Given the description of an element on the screen output the (x, y) to click on. 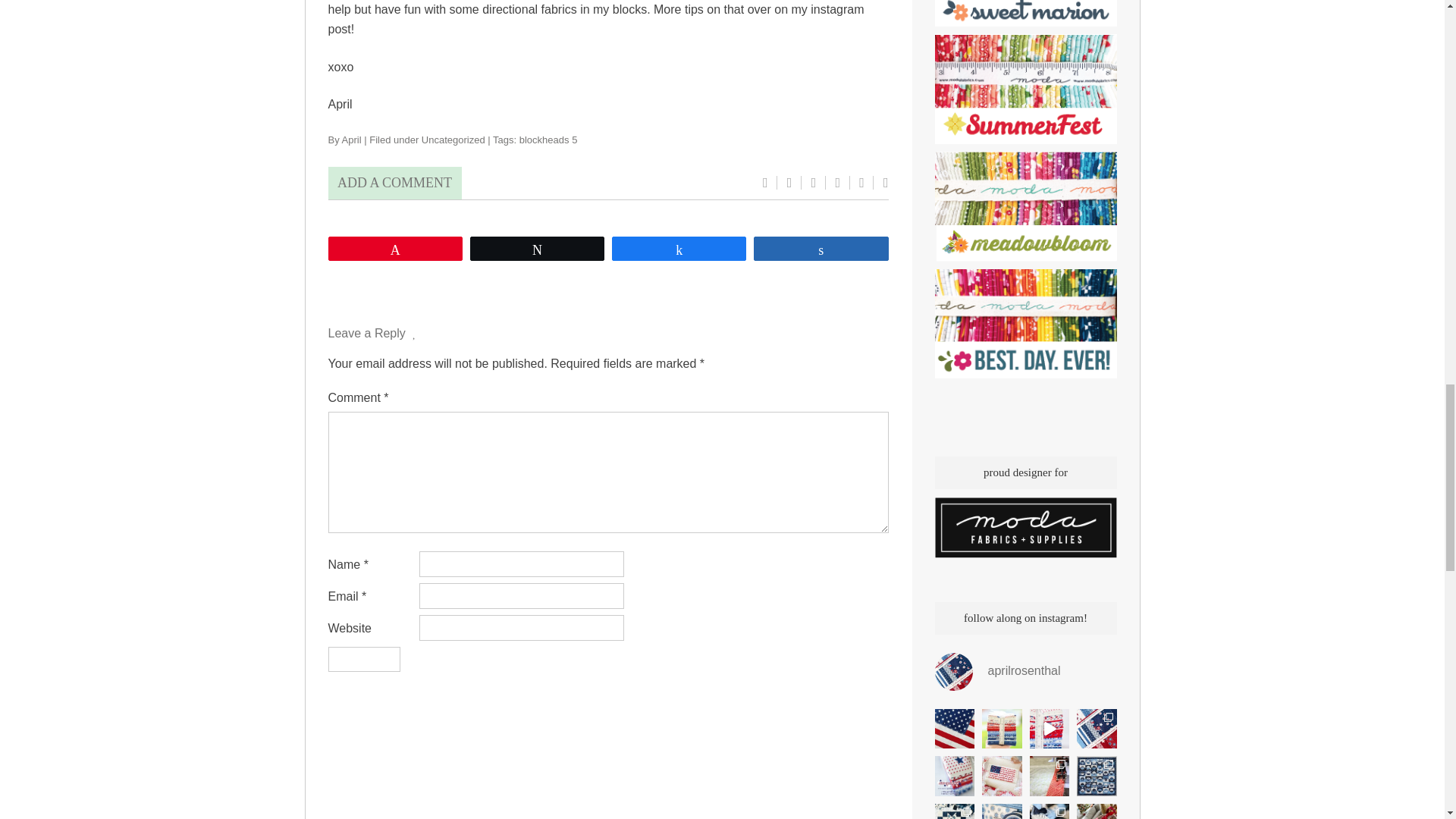
ADD A COMMENT (394, 183)
Post Comment (362, 659)
Post Comment (362, 659)
Uncategorized (453, 139)
April (351, 139)
blockheads 5 (548, 139)
